Given the description of an element on the screen output the (x, y) to click on. 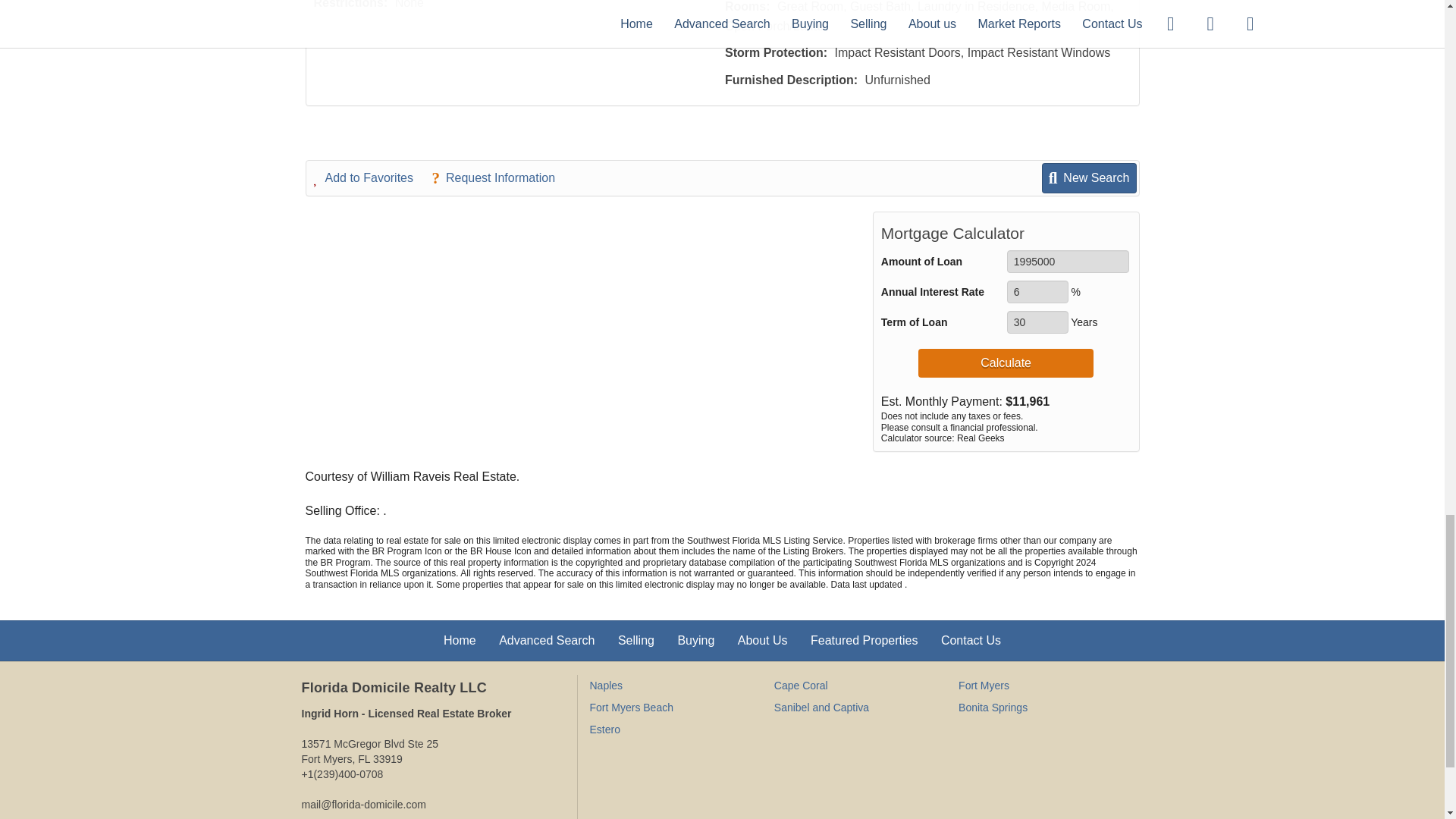
6 (1037, 291)
30 (1037, 322)
1995000 (1068, 261)
